Given the description of an element on the screen output the (x, y) to click on. 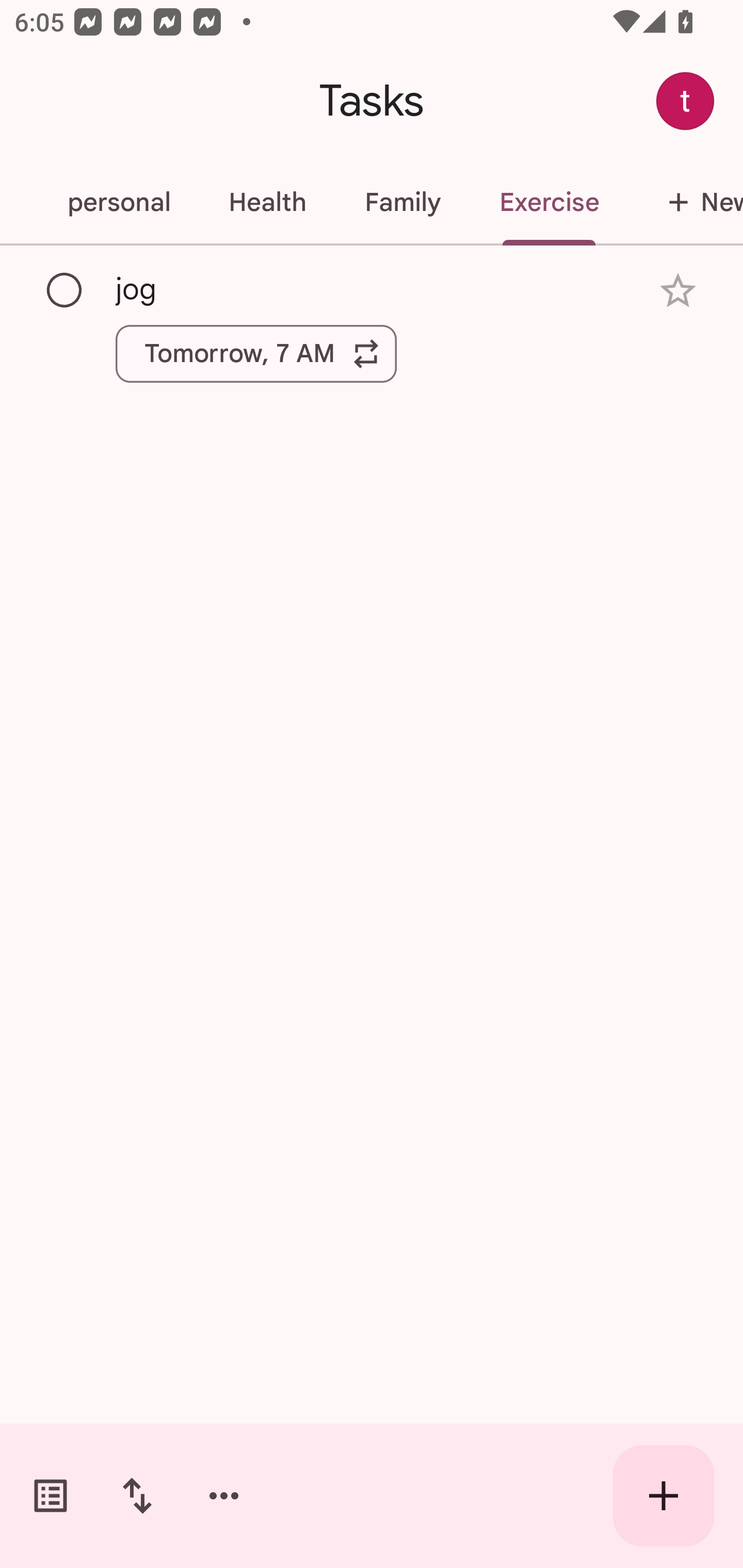
personal (118, 202)
Health (267, 202)
Family (402, 202)
New list (685, 202)
Add star (677, 290)
Mark as complete (64, 290)
Tomorrow, 7 AM (255, 353)
Switch task lists (50, 1495)
Create new task (663, 1495)
Change sort order (136, 1495)
More options (223, 1495)
